Given the description of an element on the screen output the (x, y) to click on. 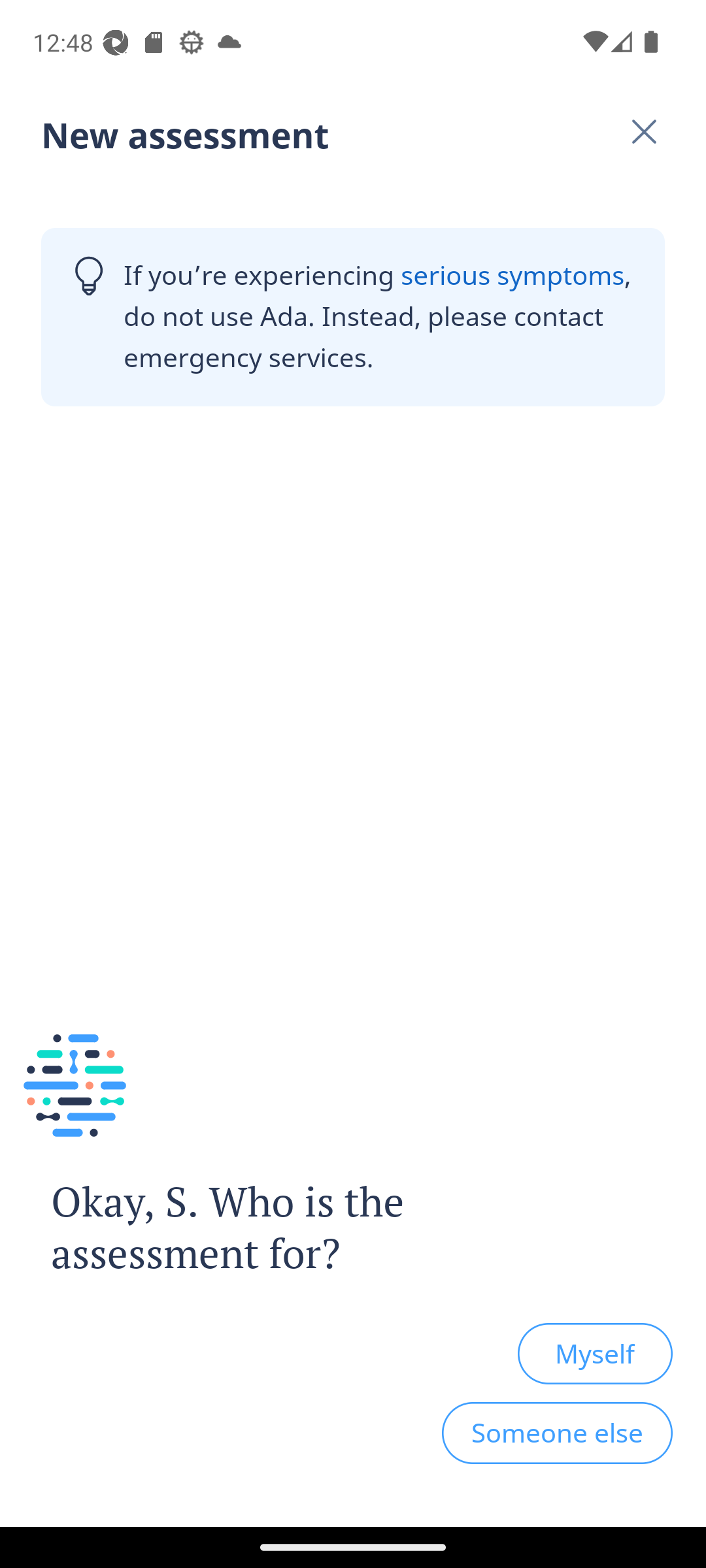
Okay, S. Who is the assessment for? (240, 1227)
Myself (594, 1352)
Someone else (556, 1432)
